Given the description of an element on the screen output the (x, y) to click on. 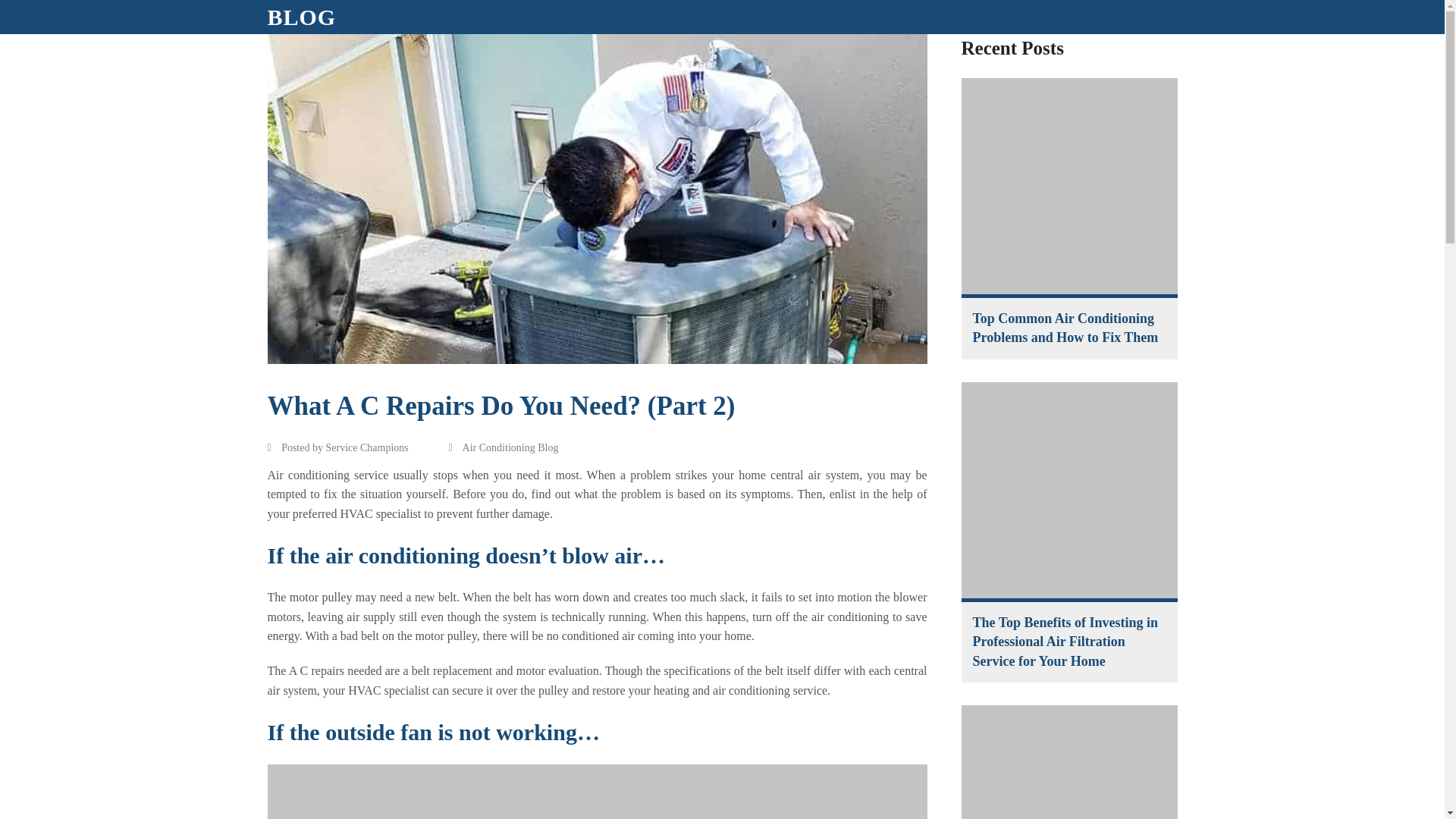
Top Common Air Conditioning Problems and How to Fix Them (1068, 186)
